Given the description of an element on the screen output the (x, y) to click on. 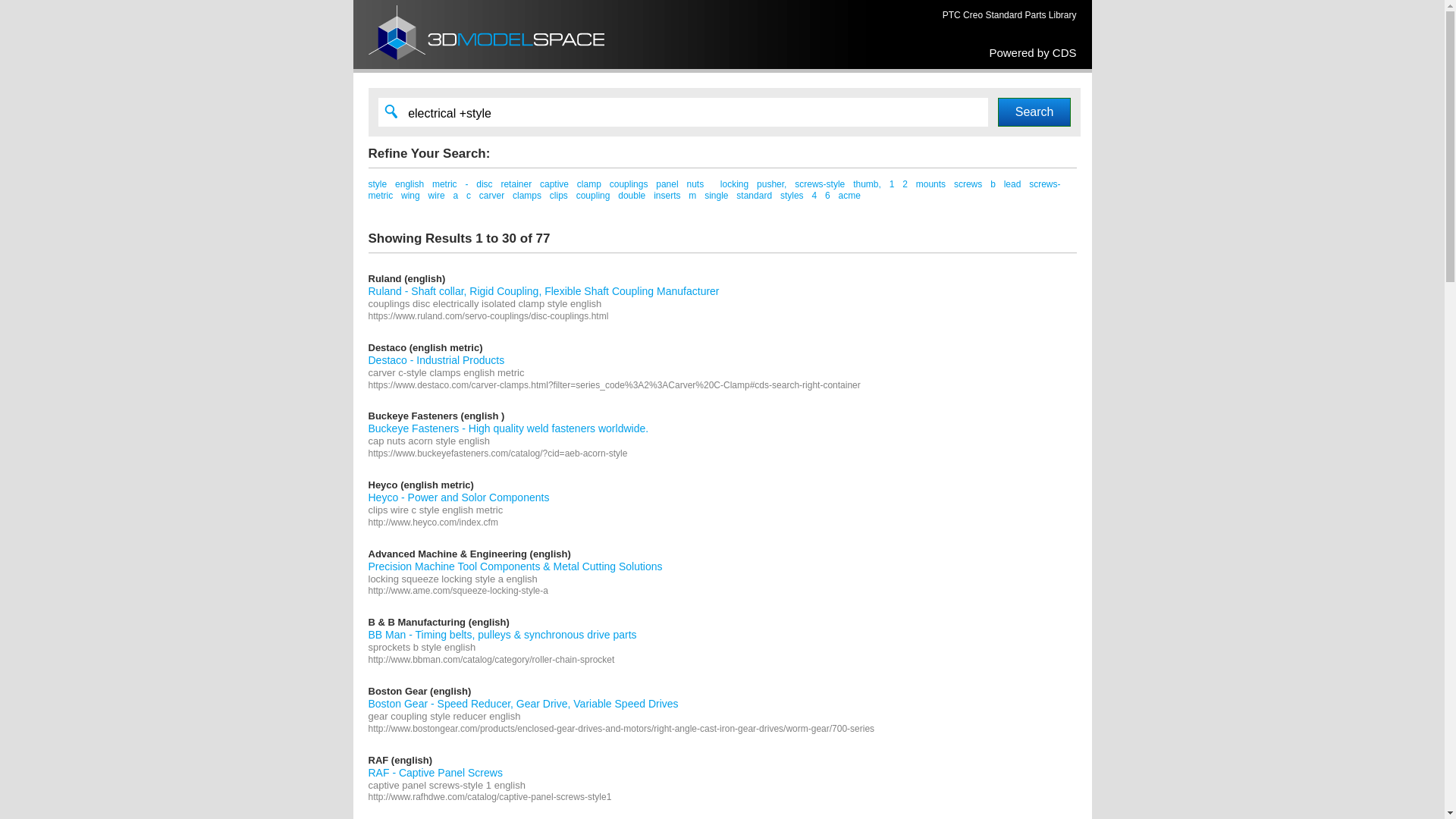
style Element type: text (377, 183)
retainer Element type: text (515, 183)
locking Element type: text (734, 183)
thumb, Element type: text (867, 183)
Search Element type: text (1033, 111)
Powered by CDS Element type: text (1032, 52)
lead Element type: text (1012, 183)
wire Element type: text (436, 195)
screws-style Element type: text (819, 183)
styles Element type: text (791, 195)
standard Element type: text (753, 195)
double Element type: text (631, 195)
carver Element type: text (491, 195)
- Element type: text (465, 183)
a Element type: text (455, 195)
single Element type: text (716, 195)
clamp Element type: text (589, 183)
https://www.ruland.com/servo-couplings/disc-couplings.html Element type: text (488, 315)
6 Element type: text (827, 195)
disc Element type: text (484, 183)
b Element type: text (992, 183)
metric Element type: text (444, 183)
screws Element type: text (967, 183)
http://www.bbman.com/catalog/category/roller-chain-sprocket Element type: text (491, 659)
acme Element type: text (849, 195)
http://www.ame.com/squeeze-locking-style-a Element type: text (458, 590)
inserts Element type: text (666, 195)
Destaco - Industrial Products Element type: text (436, 360)
Buckeye Fasteners - High quality weld fasteners worldwide. Element type: text (508, 428)
c Element type: text (468, 195)
m Element type: text (692, 195)
Heyco - Power and Solor Components Element type: text (458, 497)
clamps Element type: text (526, 195)
nuts Element type: text (694, 183)
Precision Machine Tool Components & Metal Cutting Solutions Element type: text (515, 566)
couplings Element type: text (628, 183)
coupling Element type: text (593, 195)
pusher, Element type: text (771, 183)
PTC Creo Standard Parts Library Element type: text (1009, 14)
captive Element type: text (553, 183)
2 Element type: text (904, 183)
RAF - Captive Panel Screws Element type: text (435, 771)
1 Element type: text (891, 183)
wing Element type: text (410, 195)
mounts Element type: text (930, 183)
clips Element type: text (558, 195)
BB Man - Timing belts, pulleys & synchronous drive parts Element type: text (502, 634)
4 Element type: text (813, 195)
screws-metric Element type: text (714, 189)
http://www.heyco.com/index.cfm Element type: text (433, 522)
english Element type: text (409, 183)
http://www.rafhdwe.com/catalog/captive-panel-screws-style1 Element type: text (489, 796)
panel Element type: text (666, 183)
